Given the description of an element on the screen output the (x, y) to click on. 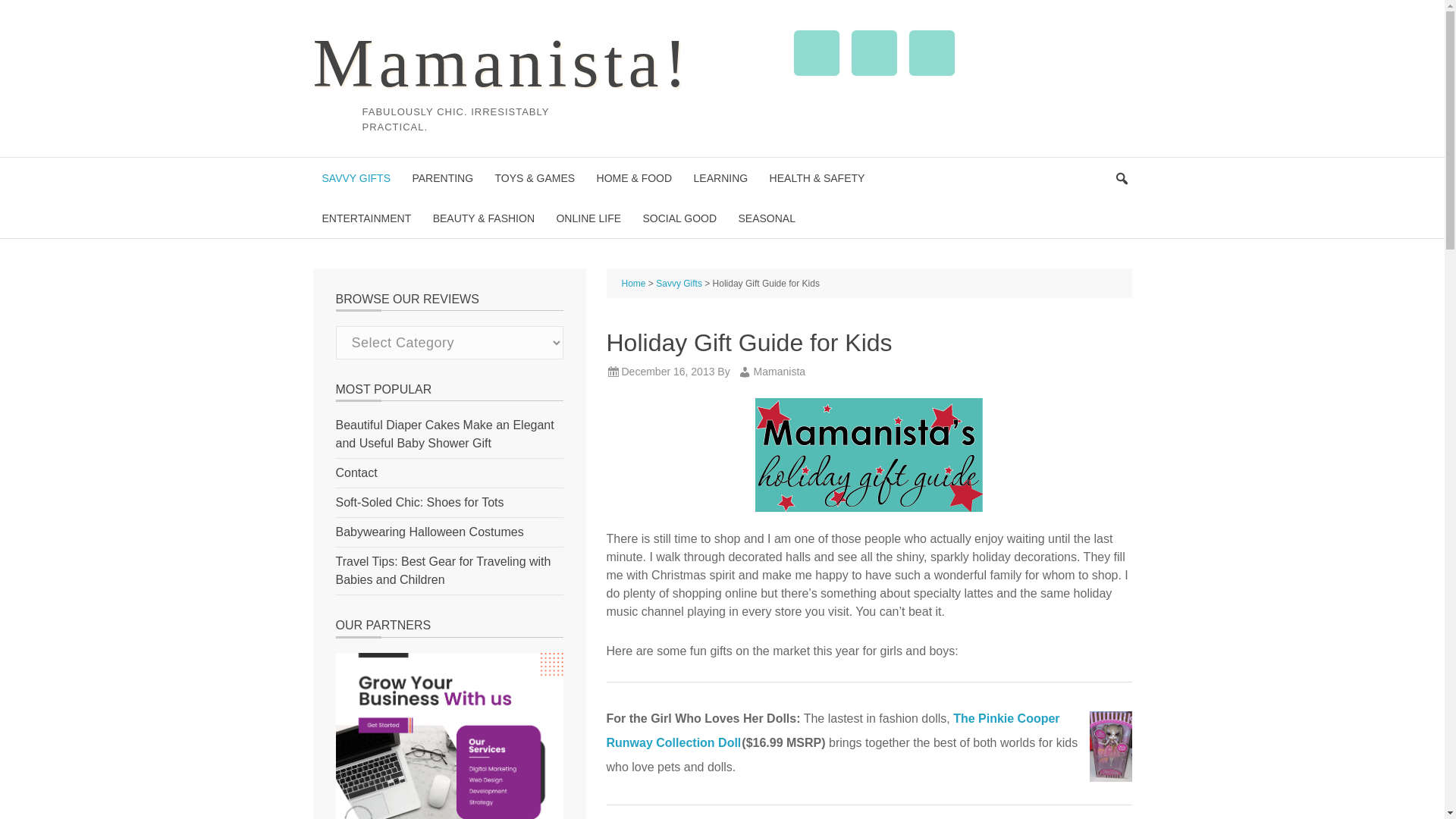
ONLINE LIFE (588, 218)
Mamanista! (502, 62)
Soft-Soled Chic: Shoes for Tots (418, 502)
Babywearing Halloween Costumes (428, 531)
The Pinkie Cooper Runway Collection Doll (833, 730)
SEASONAL (766, 218)
LEARNING (720, 178)
Mamanista! (502, 62)
